Given the description of an element on the screen output the (x, y) to click on. 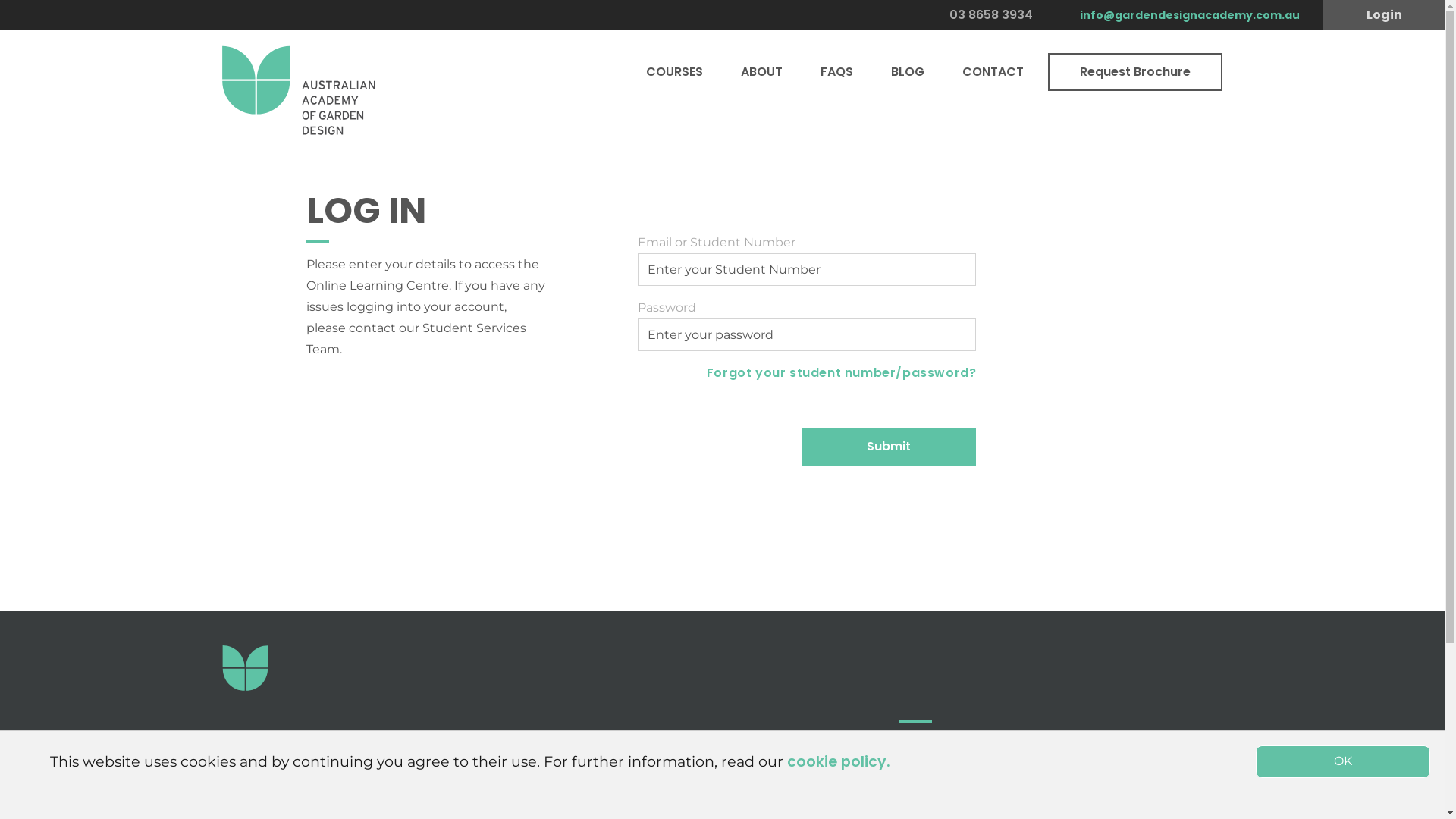
CONTACT Element type: text (992, 71)
COURSES Element type: text (674, 71)
03 8658 3934 Element type: text (504, 774)
info@gardendesignacademy.com.au Element type: text (383, 795)
Submit Element type: text (888, 446)
Login Element type: text (1383, 15)
Request Brochure Element type: text (1135, 72)
info@gardendesignacademy.com.au Element type: text (1189, 15)
BLOG Element type: text (907, 71)
03 8658 3934 Element type: text (990, 15)
ABOUT Element type: text (761, 71)
OK Element type: text (1342, 761)
Forgot your student number/password? Element type: text (841, 372)
FAQS Element type: text (836, 71)
cookie policy. Element type: text (838, 761)
